Given the description of an element on the screen output the (x, y) to click on. 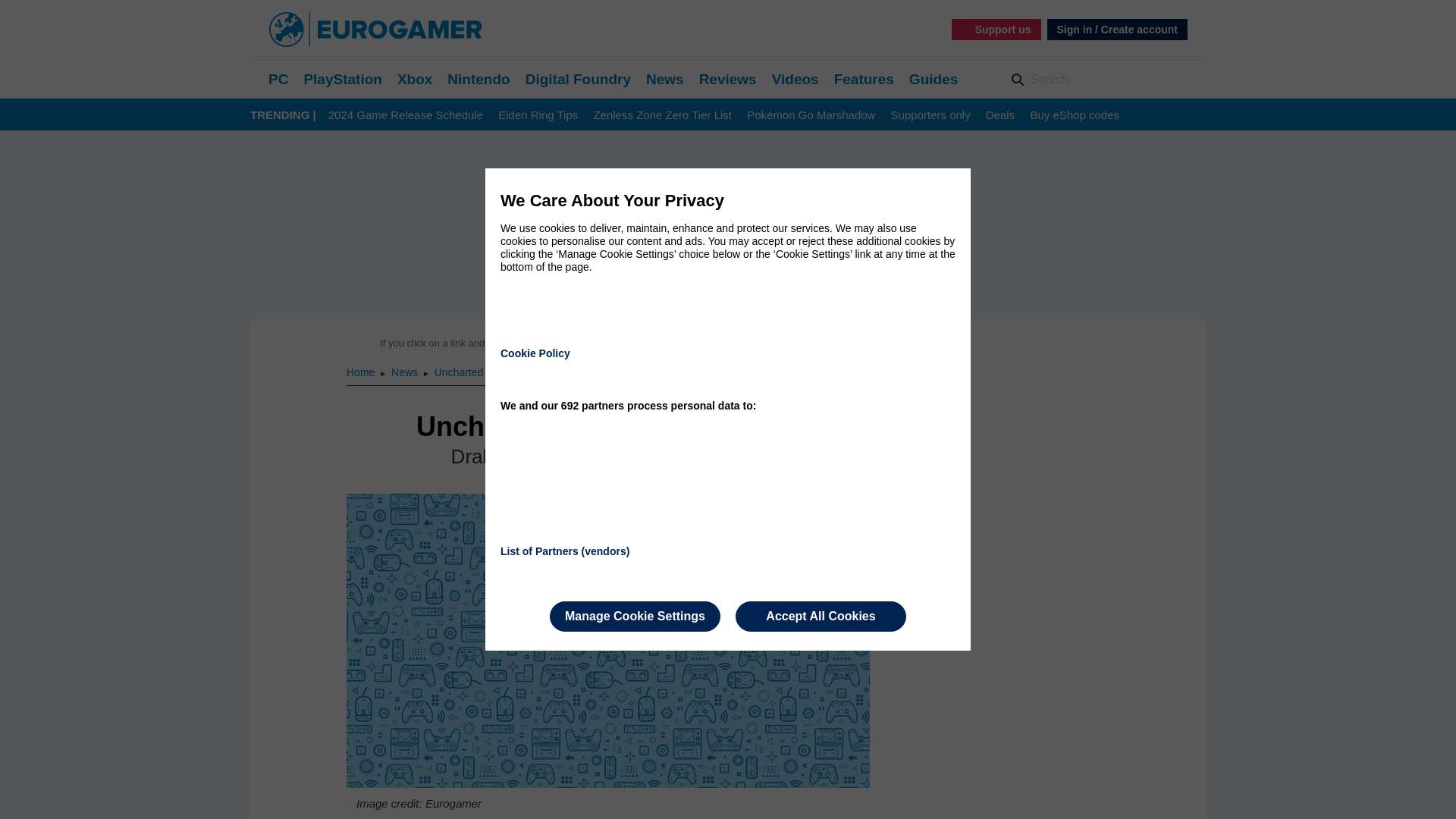
2024 Game Release Schedule (406, 114)
Deals (999, 114)
Support us (996, 29)
Home (361, 372)
Guides (933, 78)
News (665, 78)
Videos (794, 78)
Uncharted 2: Among Thieves (501, 372)
Elden Ring Tips (537, 114)
Videos (794, 78)
Uncharted 2: Among Thieves (501, 372)
Buy eShop codes (1074, 114)
Xbox (414, 78)
Zenless Zone Zero Tier List (662, 114)
Features (863, 78)
